Given the description of an element on the screen output the (x, y) to click on. 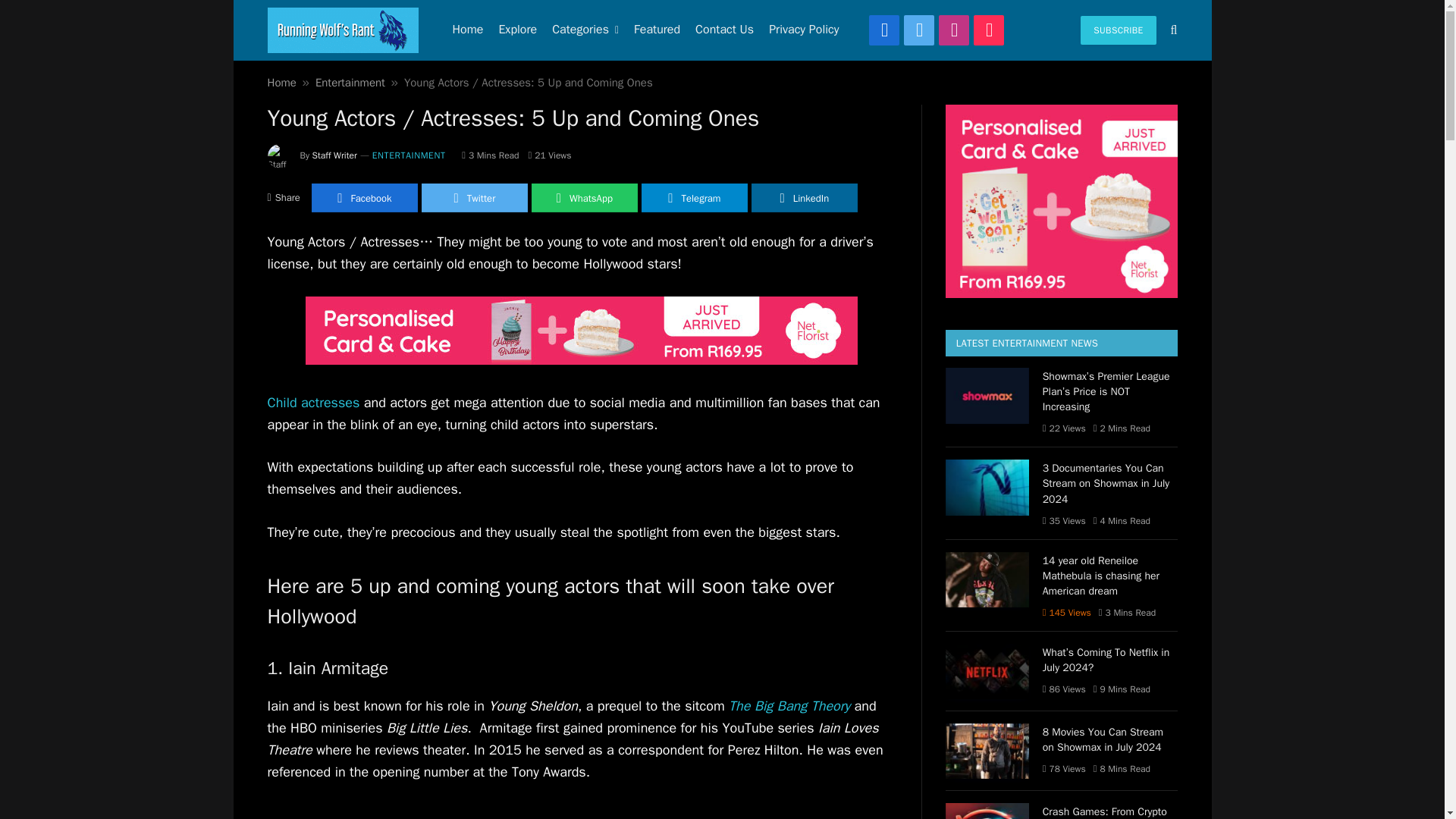
Contact Us (724, 30)
Home (467, 30)
Home (280, 82)
Share on Facebook (364, 197)
21 Article Views (550, 155)
SUBSCRIBE (1118, 30)
Share on WhatsApp (584, 197)
Posts by Staff Writer (334, 155)
WhatsApp (584, 197)
Explore (517, 30)
Share on Telegram (695, 197)
Facebook (884, 30)
Featured (656, 30)
Running Wolf's Rant (341, 30)
Search (1172, 30)
